Given the description of an element on the screen output the (x, y) to click on. 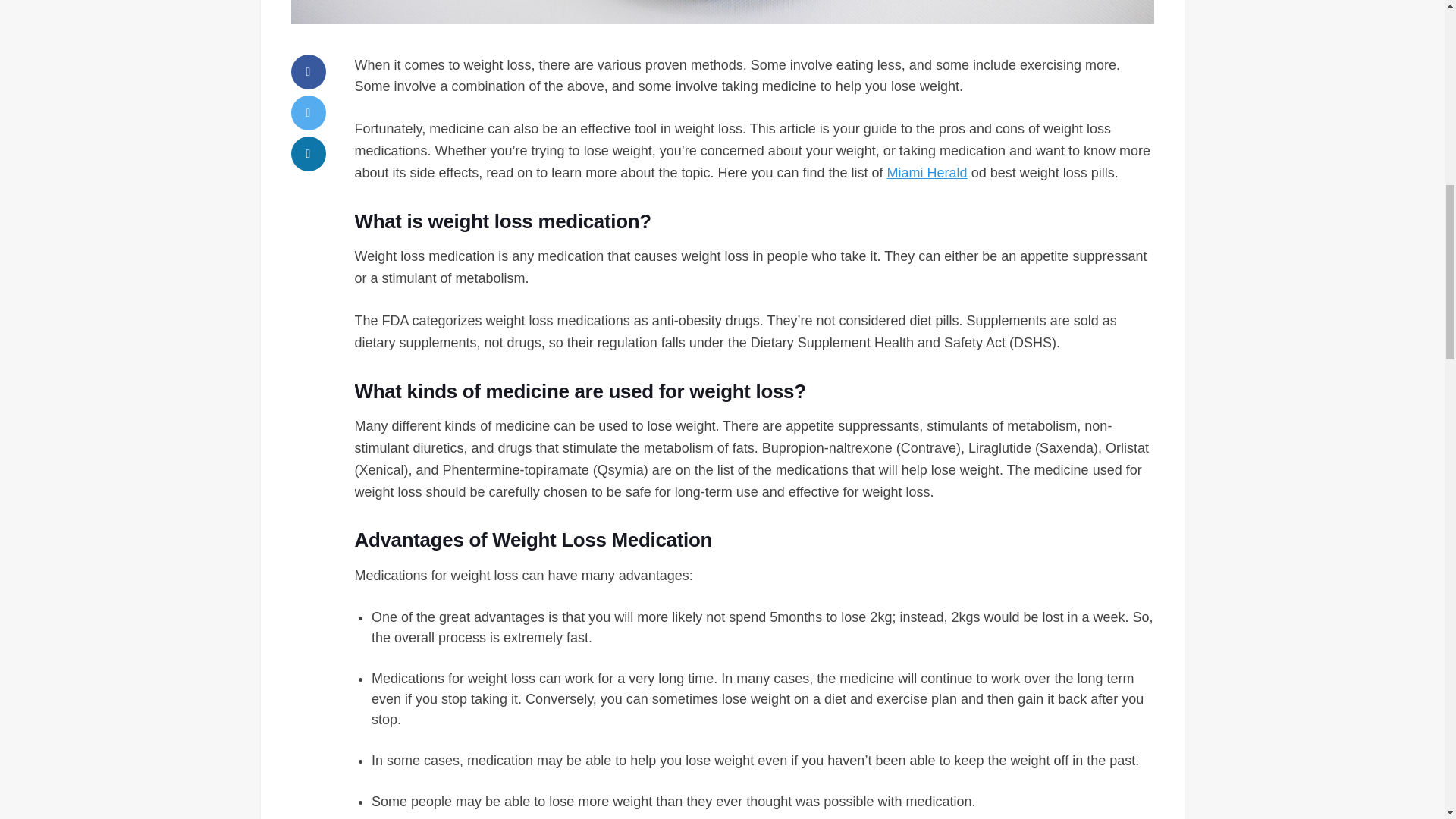
Everything You Need to Know About Weight Loss Medications (722, 11)
